Given the description of an element on the screen output the (x, y) to click on. 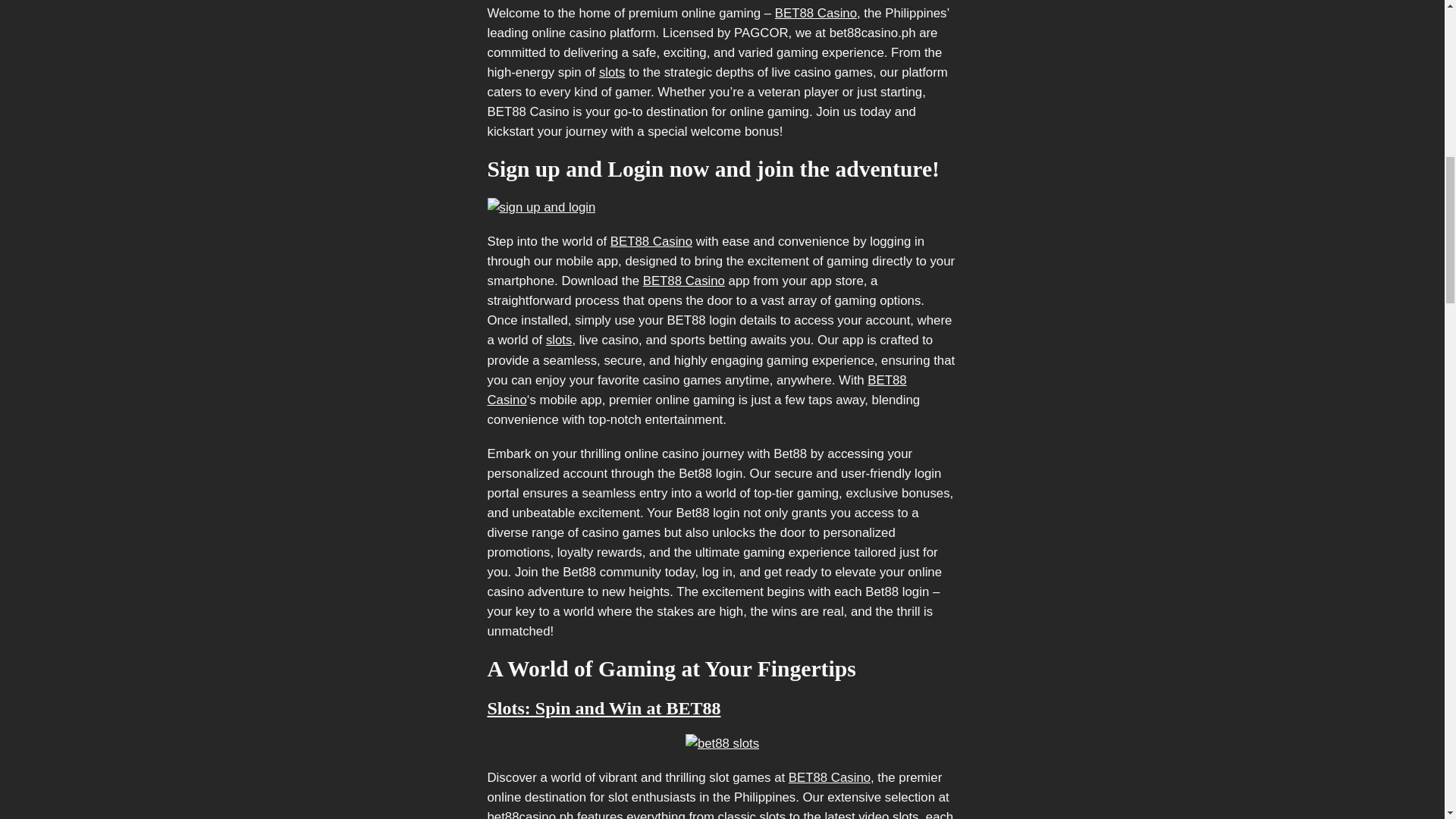
BET88 Casino (829, 777)
slots (612, 72)
BET88 Casino (815, 12)
BET88 Casino (695, 390)
BET88 Casino (651, 241)
Slots: Spin and Win at BET88 (603, 708)
BET88 Casino (684, 280)
slots (559, 339)
